Given the description of an element on the screen output the (x, y) to click on. 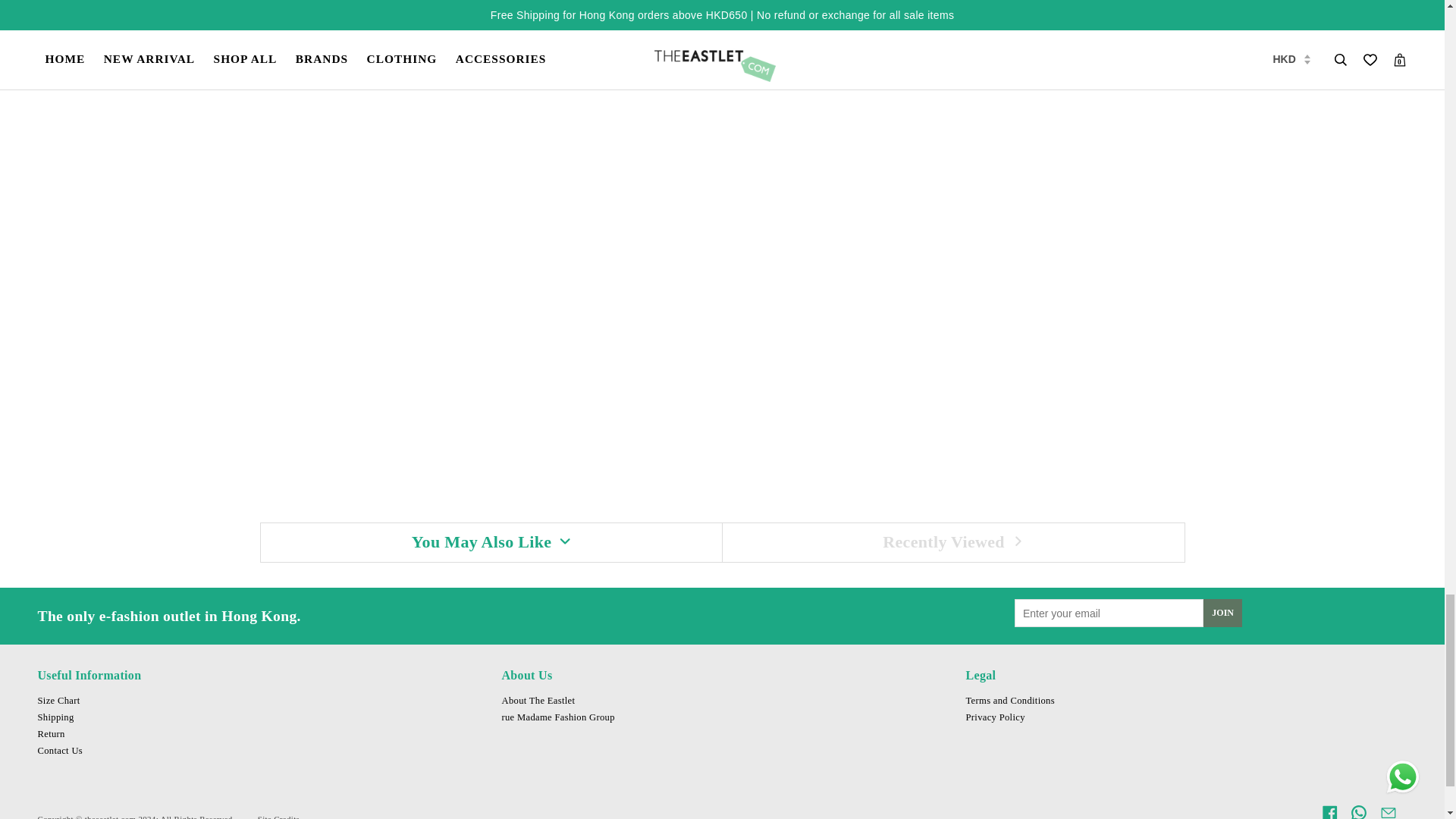
Whatsapp (1359, 811)
Facebook (1330, 811)
Join (1222, 612)
Email (1387, 811)
